Given the description of an element on the screen output the (x, y) to click on. 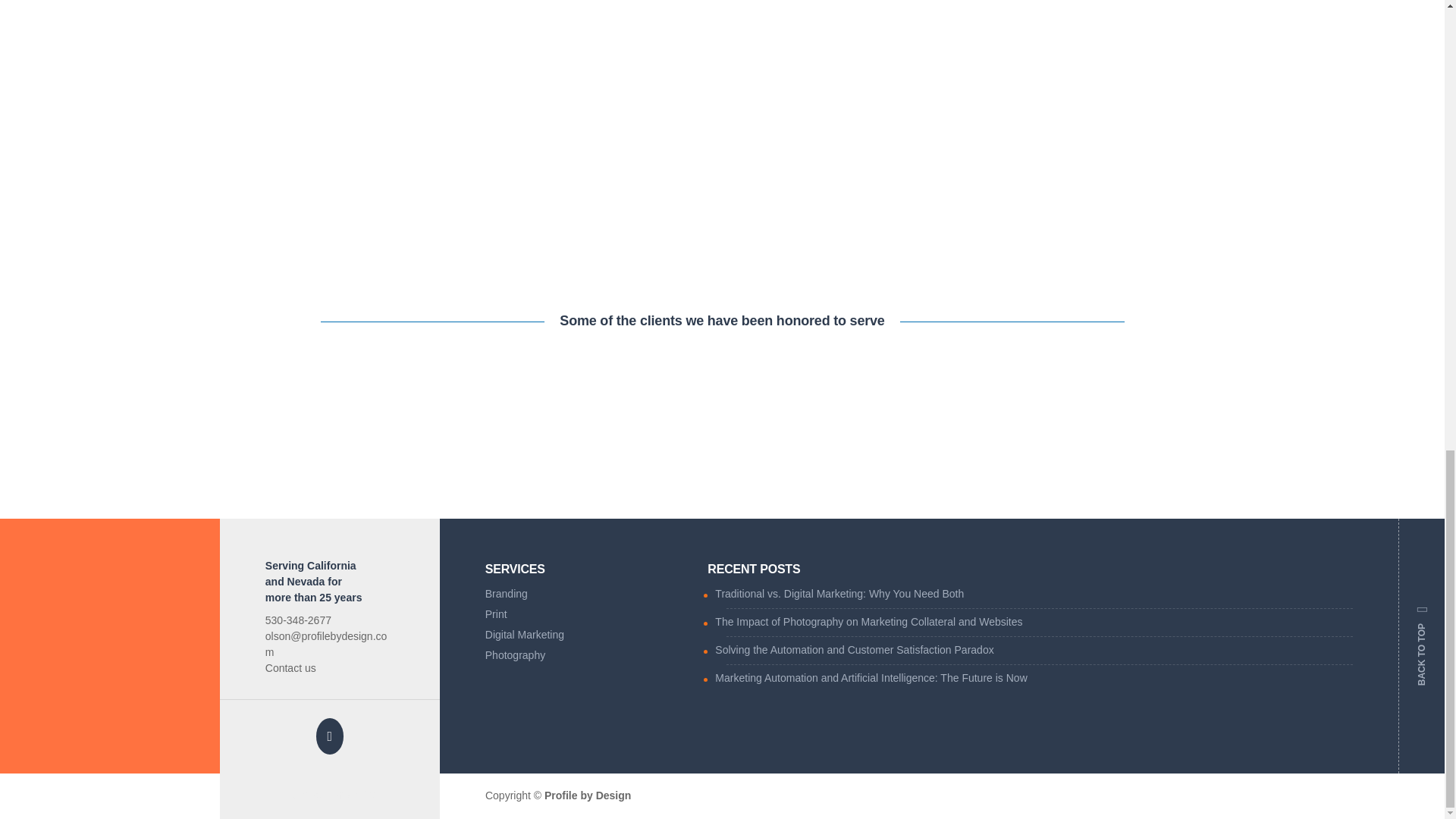
530-348-2677 (297, 620)
Branding (584, 596)
Print (584, 616)
Contact us (289, 667)
